Given the description of an element on the screen output the (x, y) to click on. 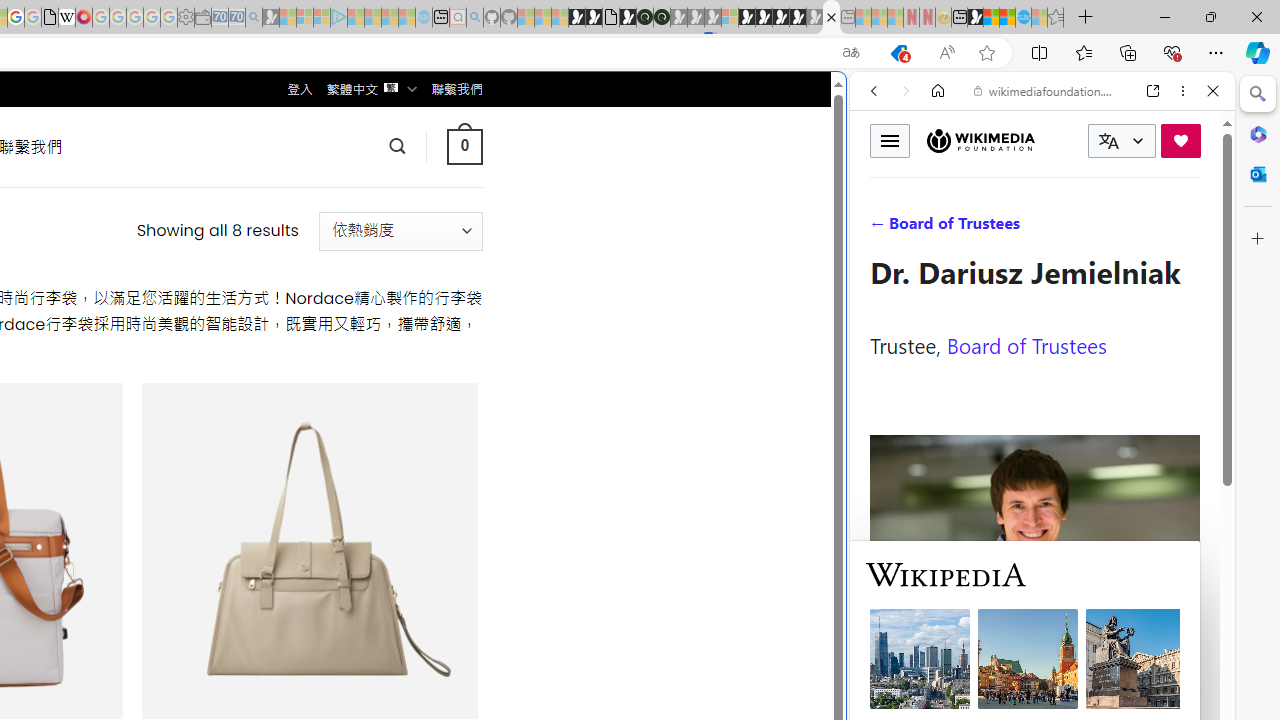
Wikimedia Foundation (980, 141)
Search Filter, WEB (882, 228)
Sign in to your account - Sleeping (729, 17)
Favorites - Sleeping (1055, 17)
